Given the description of an element on the screen output the (x, y) to click on. 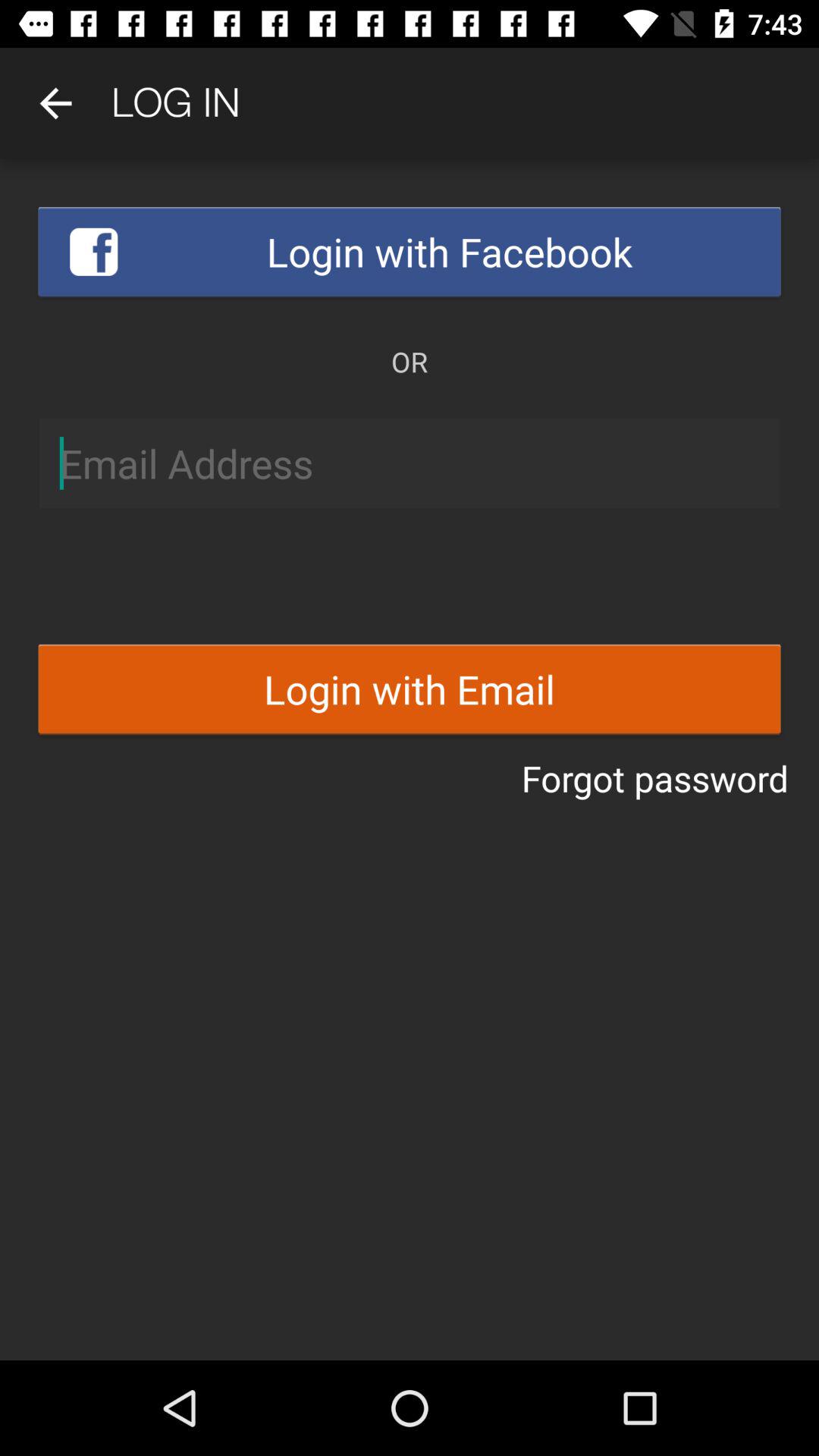
select item to the left of log in icon (55, 103)
